Given the description of an element on the screen output the (x, y) to click on. 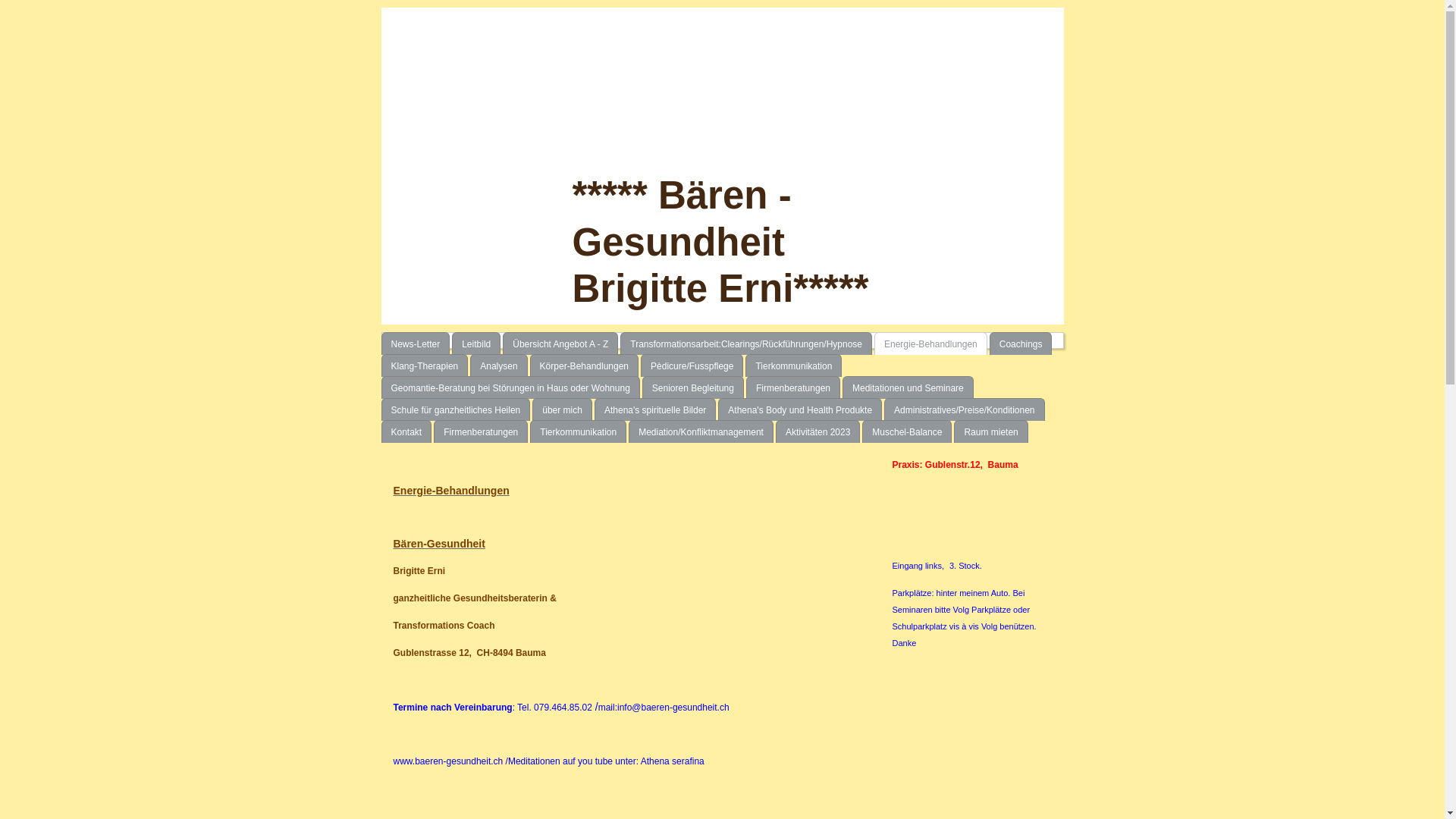
Firmenberatungen Element type: text (480, 431)
Tierkommunikation Element type: text (793, 365)
Mediation/Konfliktmanagement Element type: text (700, 431)
News-Letter Element type: text (414, 343)
Athena's spirituelle Bilder Element type: text (654, 409)
Energie-Behandlungen Element type: text (930, 343)
Administratives/Preise/Konditionen Element type: text (964, 409)
Athena's Body und Health Produkte Element type: text (799, 409)
Tierkommunikation Element type: text (578, 431)
Klang-Therapien Element type: text (423, 365)
Leitbild Element type: text (475, 343)
Meditationen und Seminare Element type: text (907, 387)
Senioren Begleitung Element type: text (692, 387)
Firmenberatungen Element type: text (793, 387)
Coachings Element type: text (1020, 343)
Kontakt Element type: text (405, 431)
Raum mieten Element type: text (990, 431)
Muschel-Balance Element type: text (906, 431)
Analysen Element type: text (498, 365)
